Given the description of an element on the screen output the (x, y) to click on. 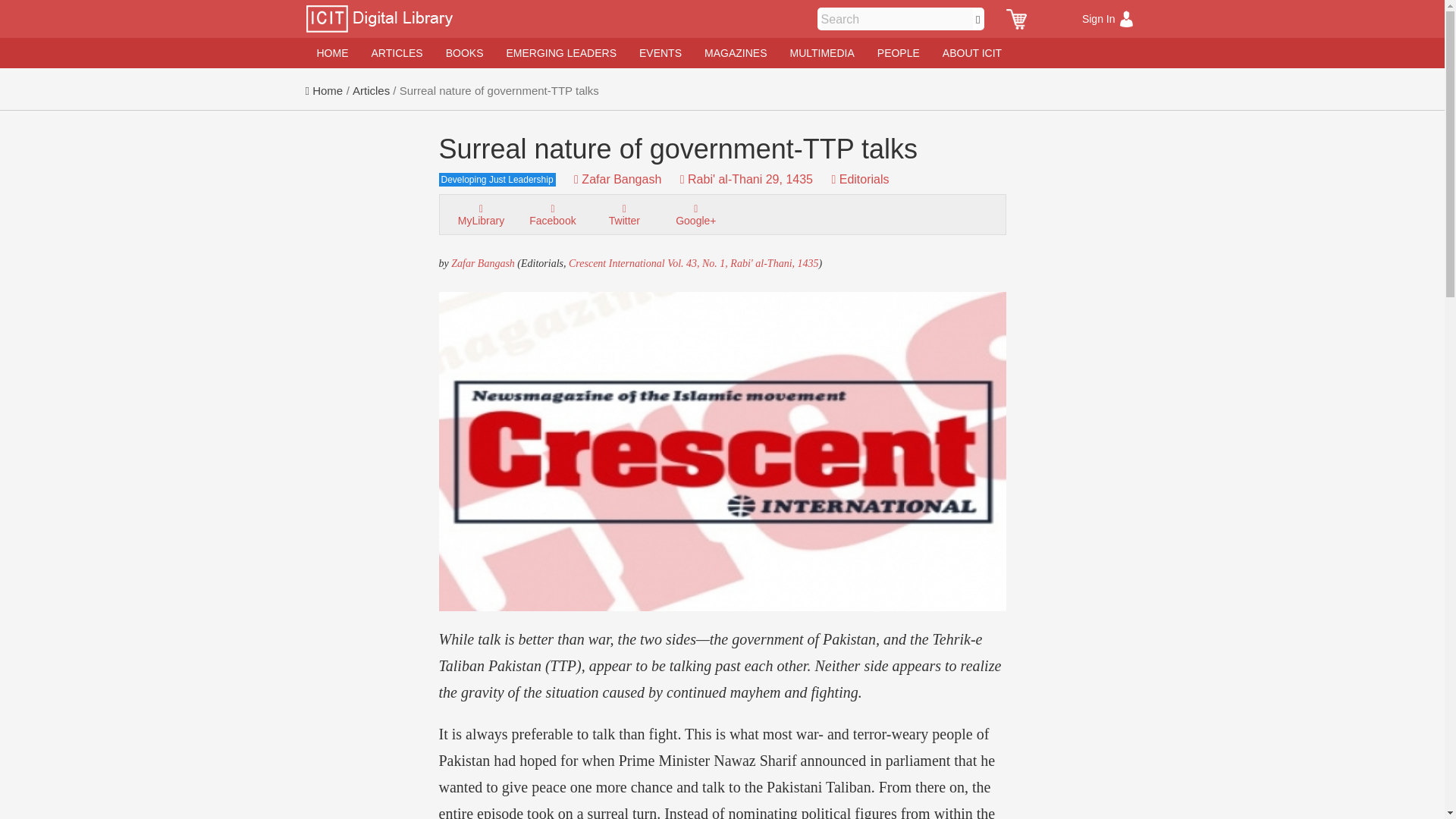
Developing Just Leadership (504, 174)
Zafar Bangash (620, 178)
Zafar Bangash (483, 263)
Facebook (552, 213)
ARTICLES (396, 52)
Share on Twitter (623, 214)
Add to MyLibrary (481, 214)
PEOPLE (898, 52)
MULTIMEDIA (820, 52)
Twitter (623, 213)
